Given the description of an element on the screen output the (x, y) to click on. 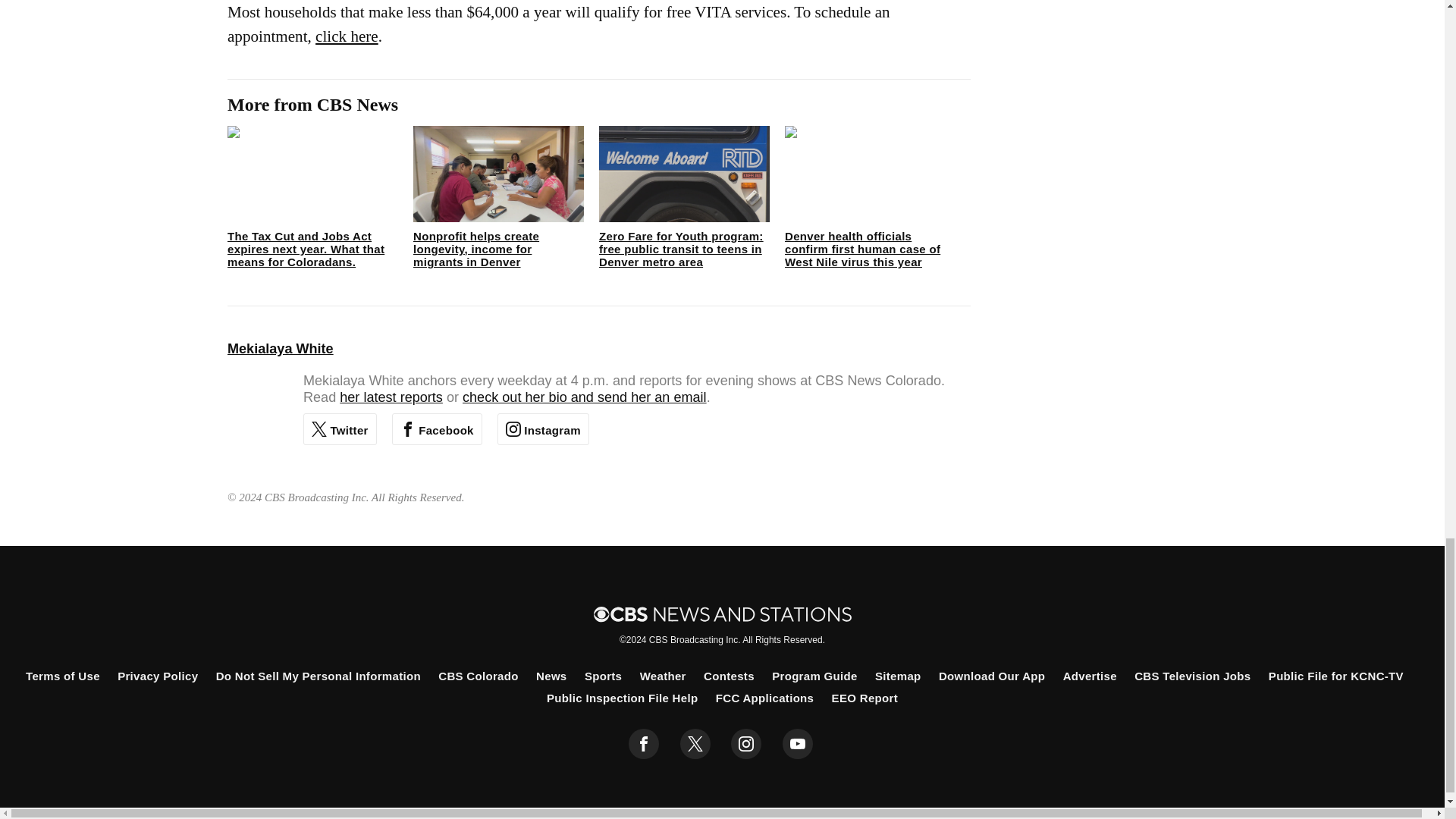
twitter (694, 743)
facebook (643, 743)
instagram (745, 743)
youtube (797, 743)
